Given the description of an element on the screen output the (x, y) to click on. 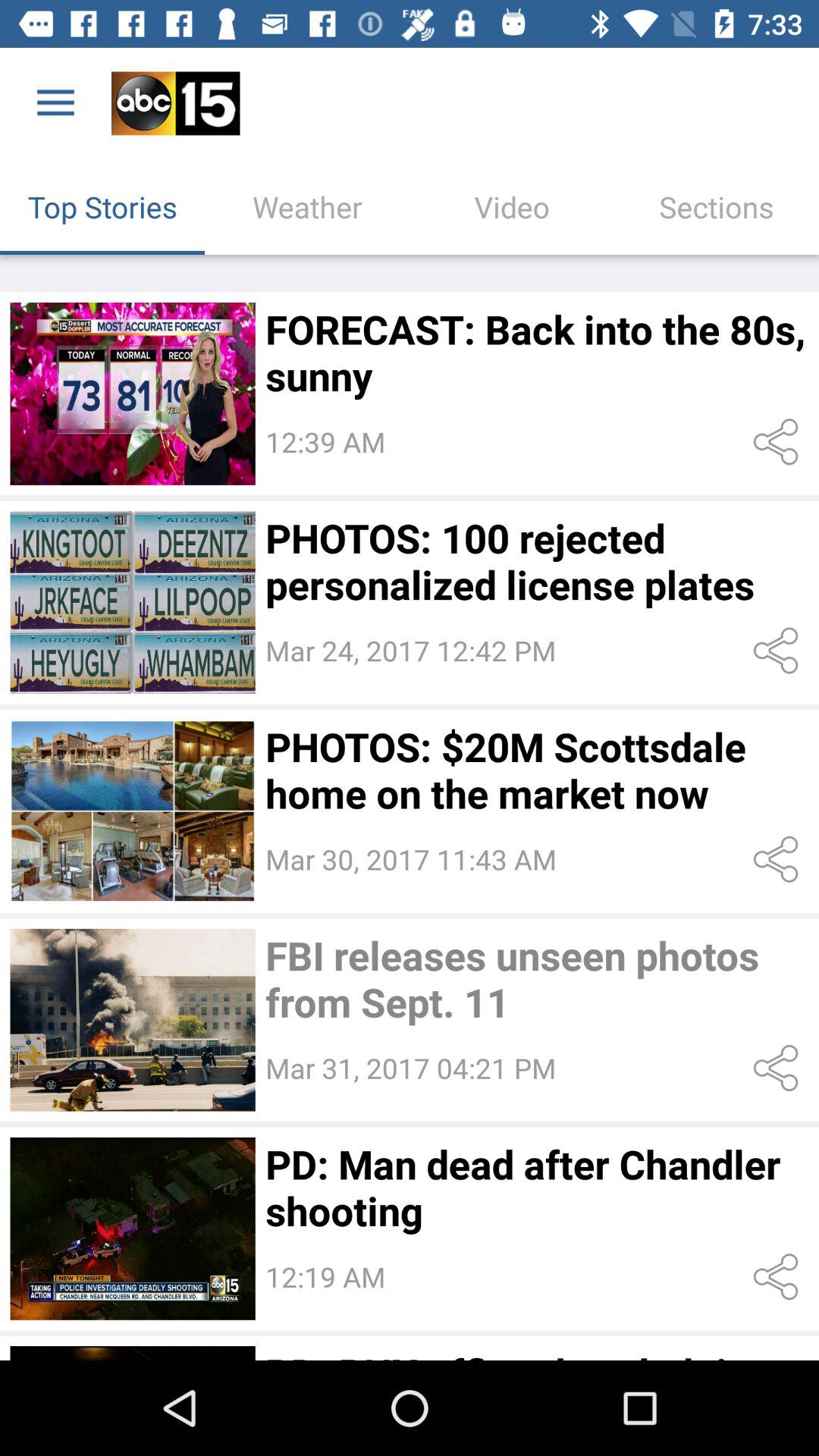
pictures (132, 1228)
